Given the description of an element on the screen output the (x, y) to click on. 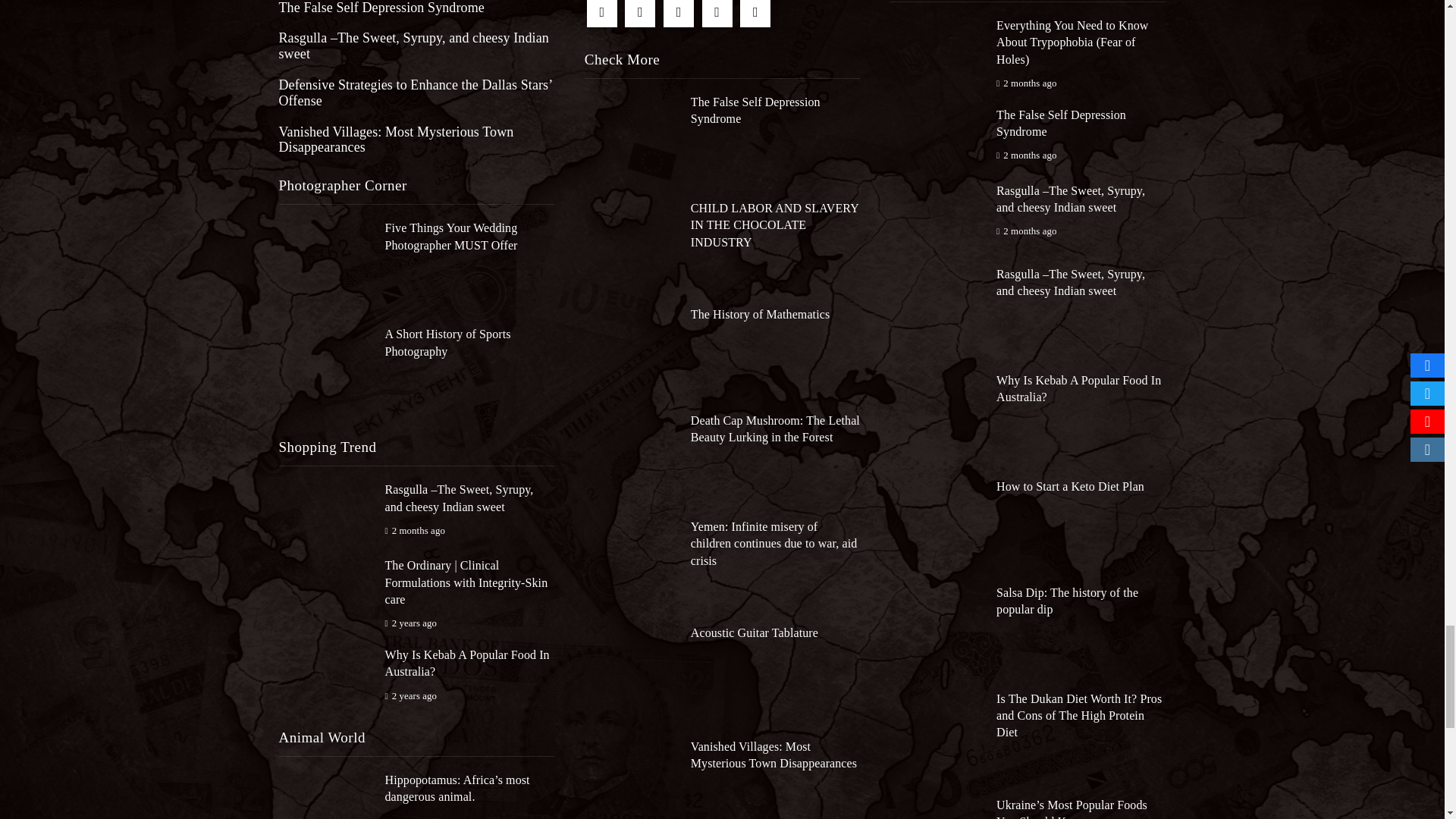
Youtube (716, 13)
Twitter (639, 13)
Pinterest (678, 13)
Facebook (601, 13)
